Given the description of an element on the screen output the (x, y) to click on. 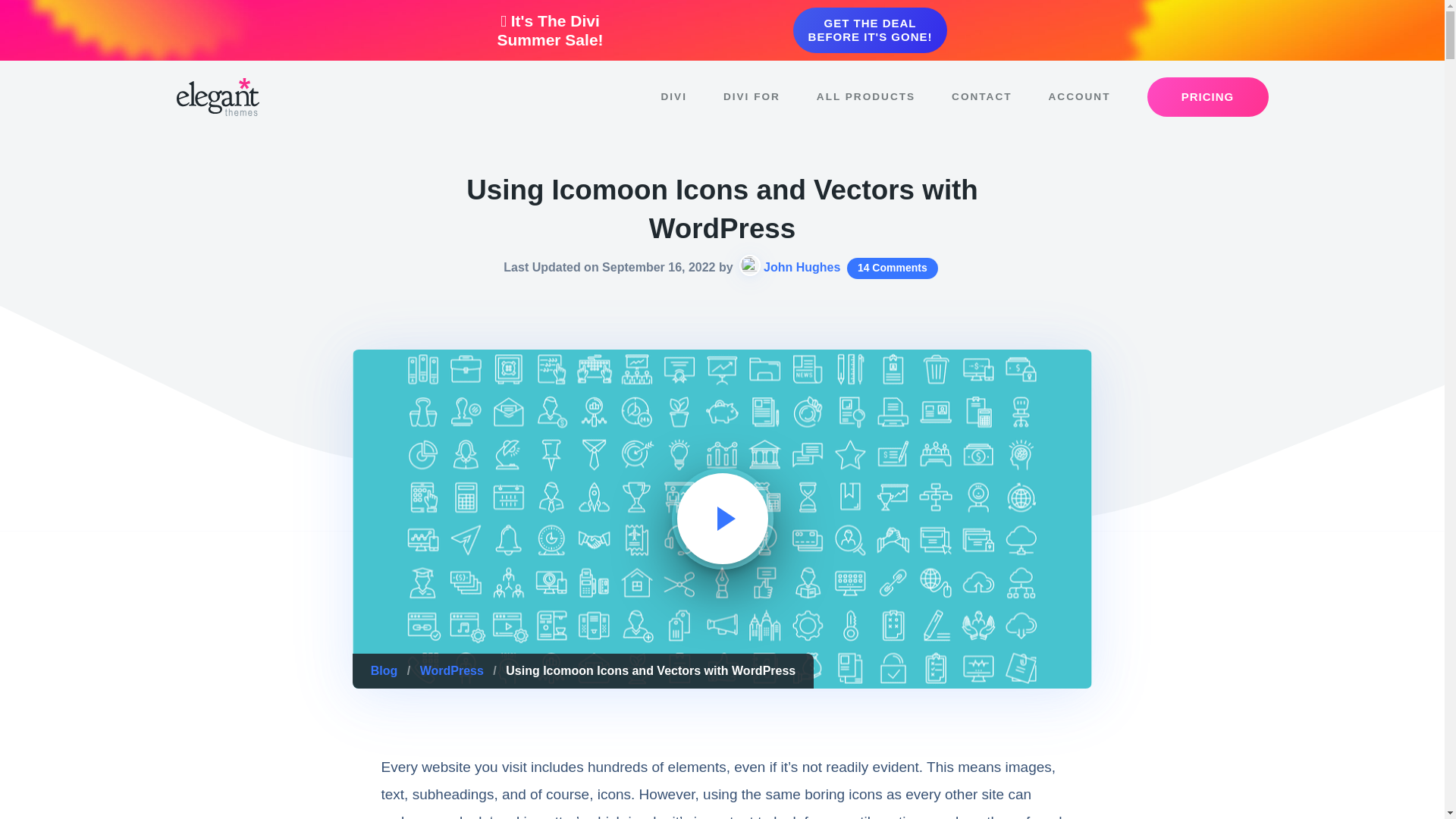
ALL PRODUCTS (865, 96)
DIVI (673, 96)
Posts by John Hughes (801, 267)
CONTACT (981, 96)
DIVI FOR (750, 96)
